Given the description of an element on the screen output the (x, y) to click on. 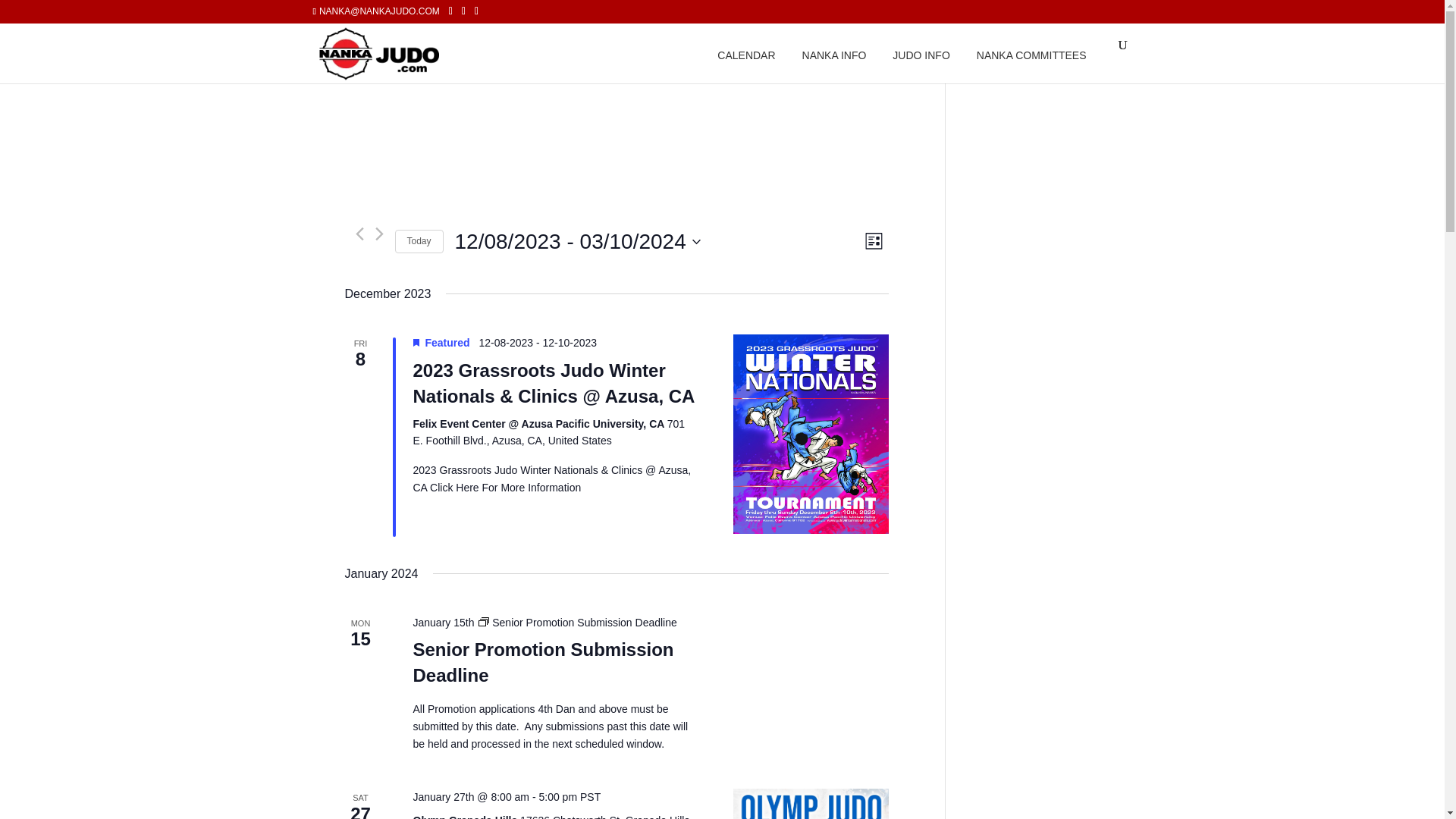
Click to select today's date (418, 241)
NANKA COMMITTEES (1033, 52)
Event Series (484, 621)
Event Series (578, 622)
Senior Promotion Submission Deadline (542, 662)
JUDO INFO (921, 52)
CALENDAR (748, 52)
Click to toggle datepicker (577, 241)
NANKA INFO (836, 52)
